Given the description of an element on the screen output the (x, y) to click on. 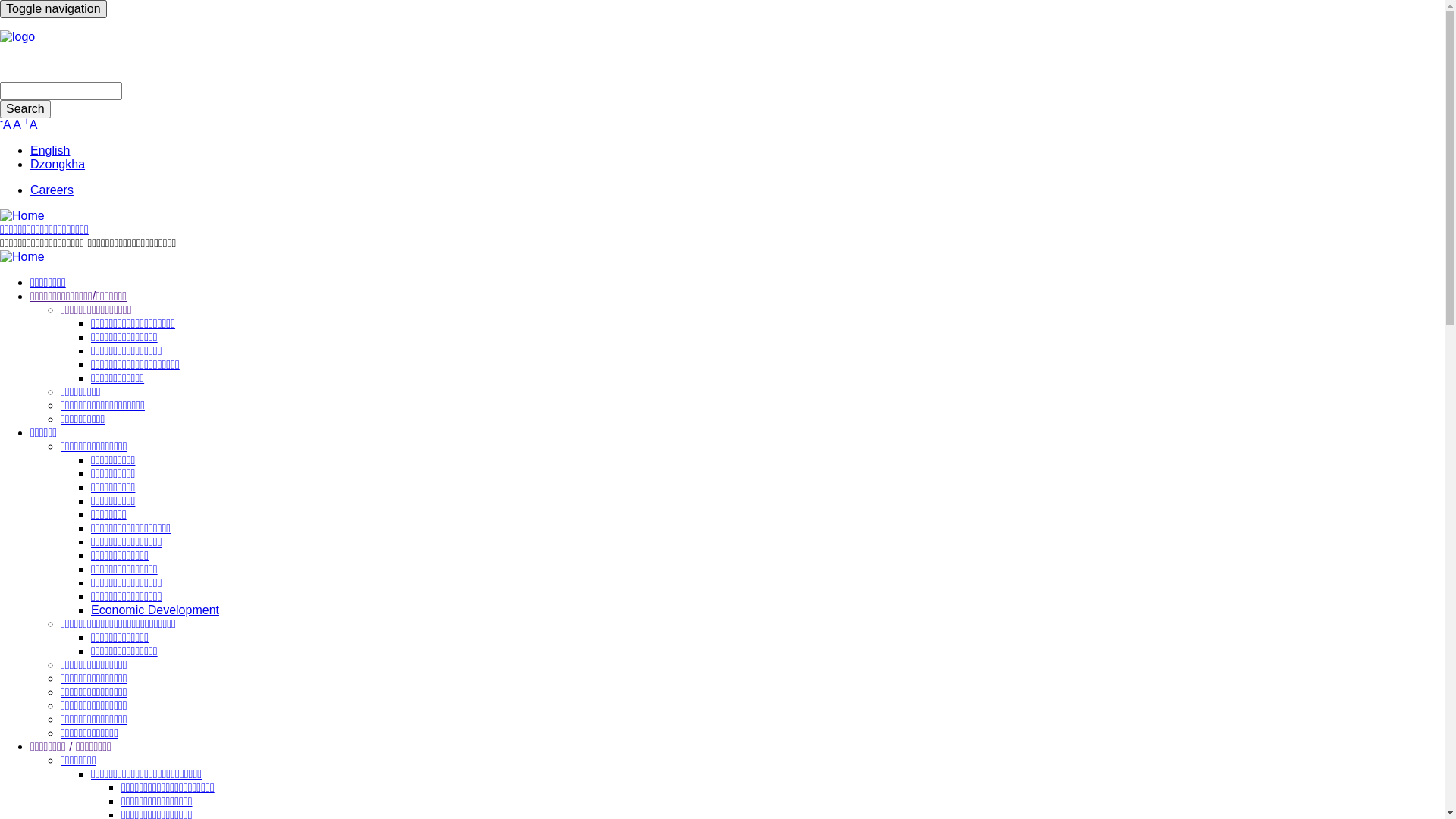
A Element type: text (16, 124)
English Element type: text (49, 150)
Search Element type: text (25, 109)
Careers Element type: text (51, 189)
Economic Development Element type: text (155, 609)
Home Element type: hover (22, 215)
-A Element type: text (5, 124)
Home Element type: hover (22, 256)
Toggle navigation Element type: text (53, 9)
Enter the terms you wish to search for. Element type: hover (61, 90)
+A Element type: text (30, 124)
Dzongkha Element type: text (57, 163)
Skip to main content Element type: text (0, 0)
